Given the description of an element on the screen output the (x, y) to click on. 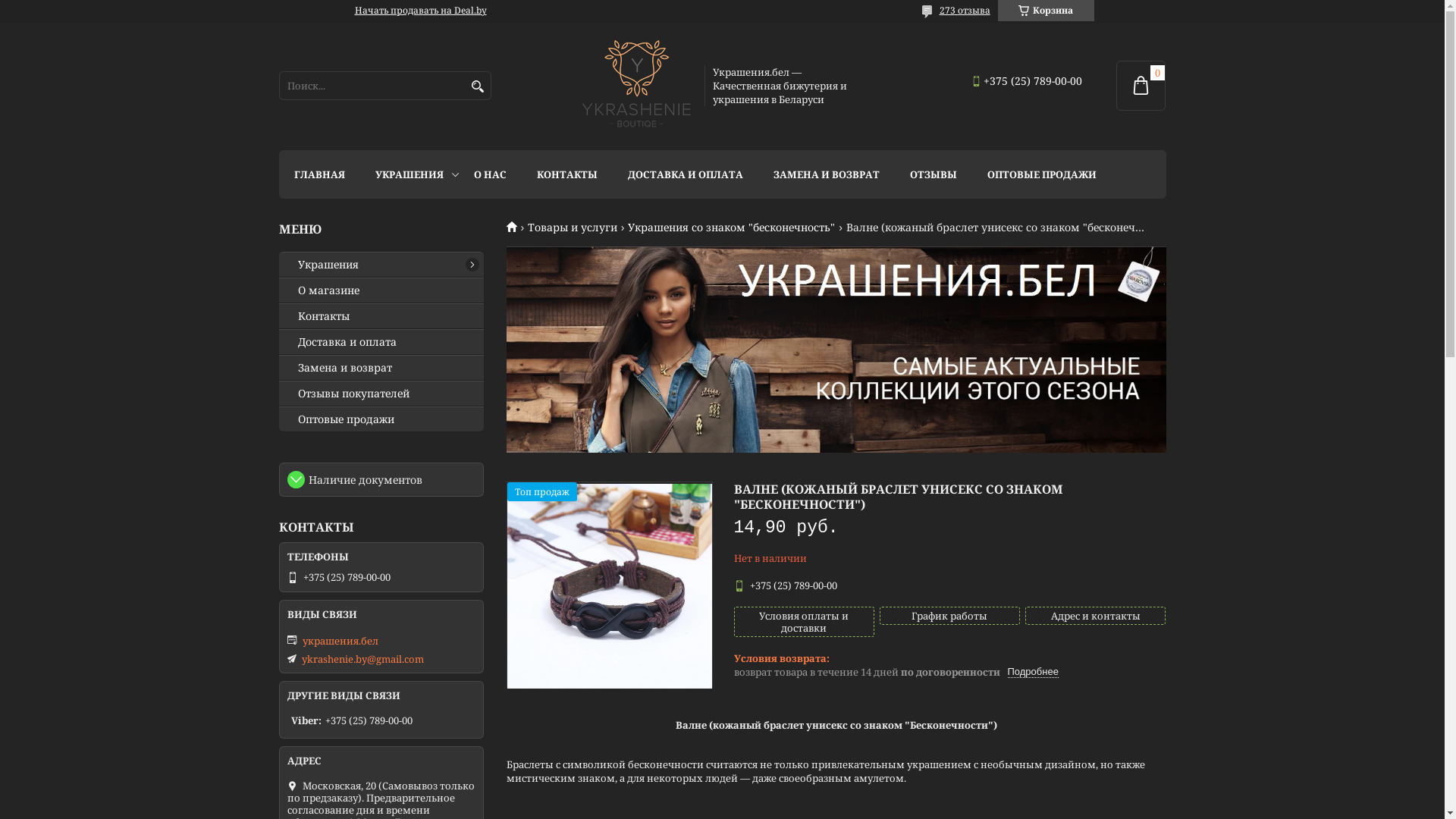
ykrashenie.by@gmail.com Element type: text (362, 658)
